Given the description of an element on the screen output the (x, y) to click on. 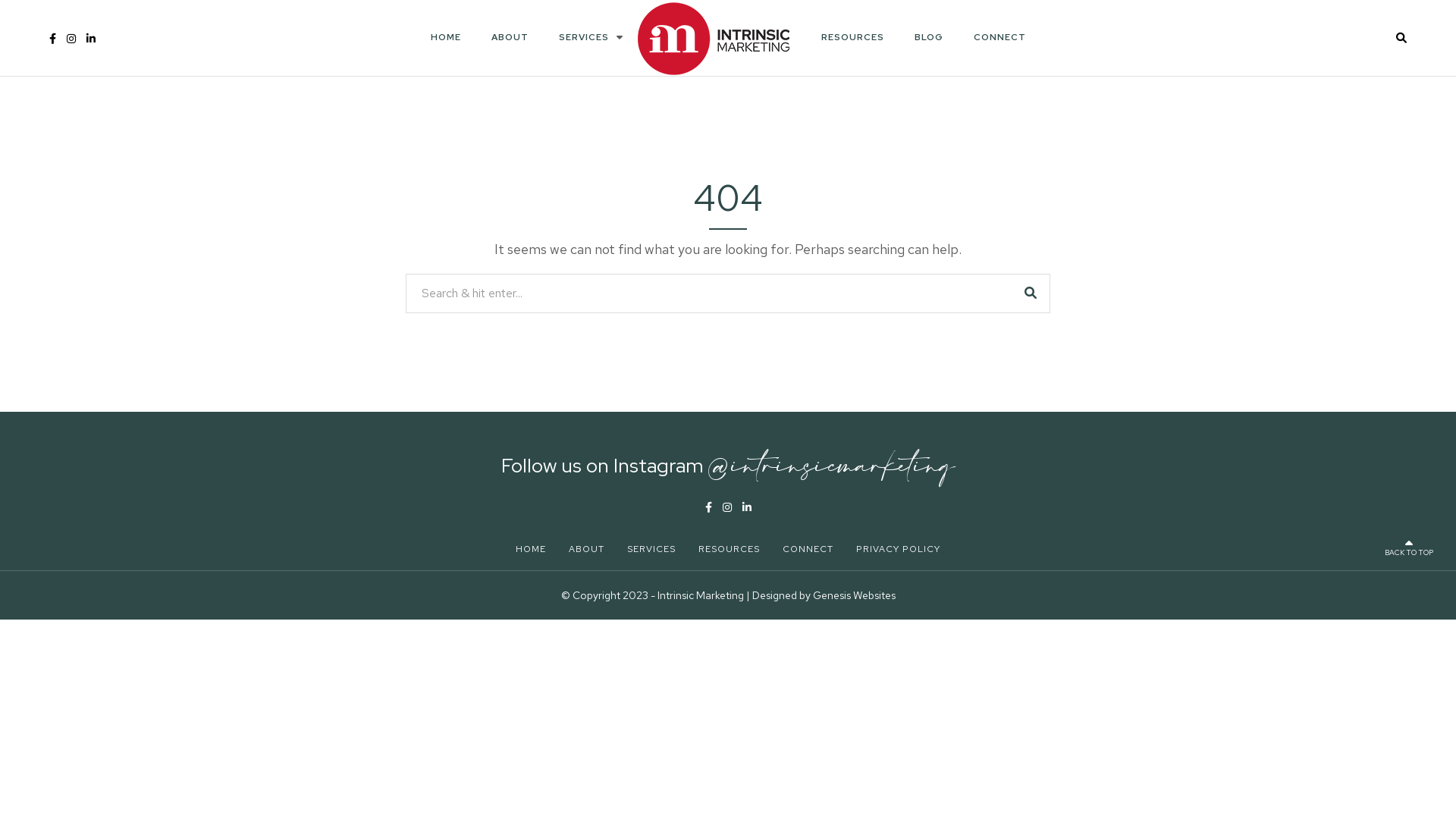
RESOURCES Element type: text (851, 37)
SERVICES Element type: text (582, 37)
HOME Element type: text (445, 37)
PRIVACY POLICY Element type: text (898, 548)
HOME Element type: text (530, 548)
BACK TO TOP Element type: text (1408, 547)
ABOUT Element type: text (586, 548)
ABOUT Element type: text (509, 37)
RESOURCES Element type: text (728, 548)
CONNECT Element type: text (999, 37)
BLOG Element type: text (928, 37)
Genesis Websites Element type: text (853, 595)
CONNECT Element type: text (807, 548)
SERVICES Element type: text (651, 548)
